Given the description of an element on the screen output the (x, y) to click on. 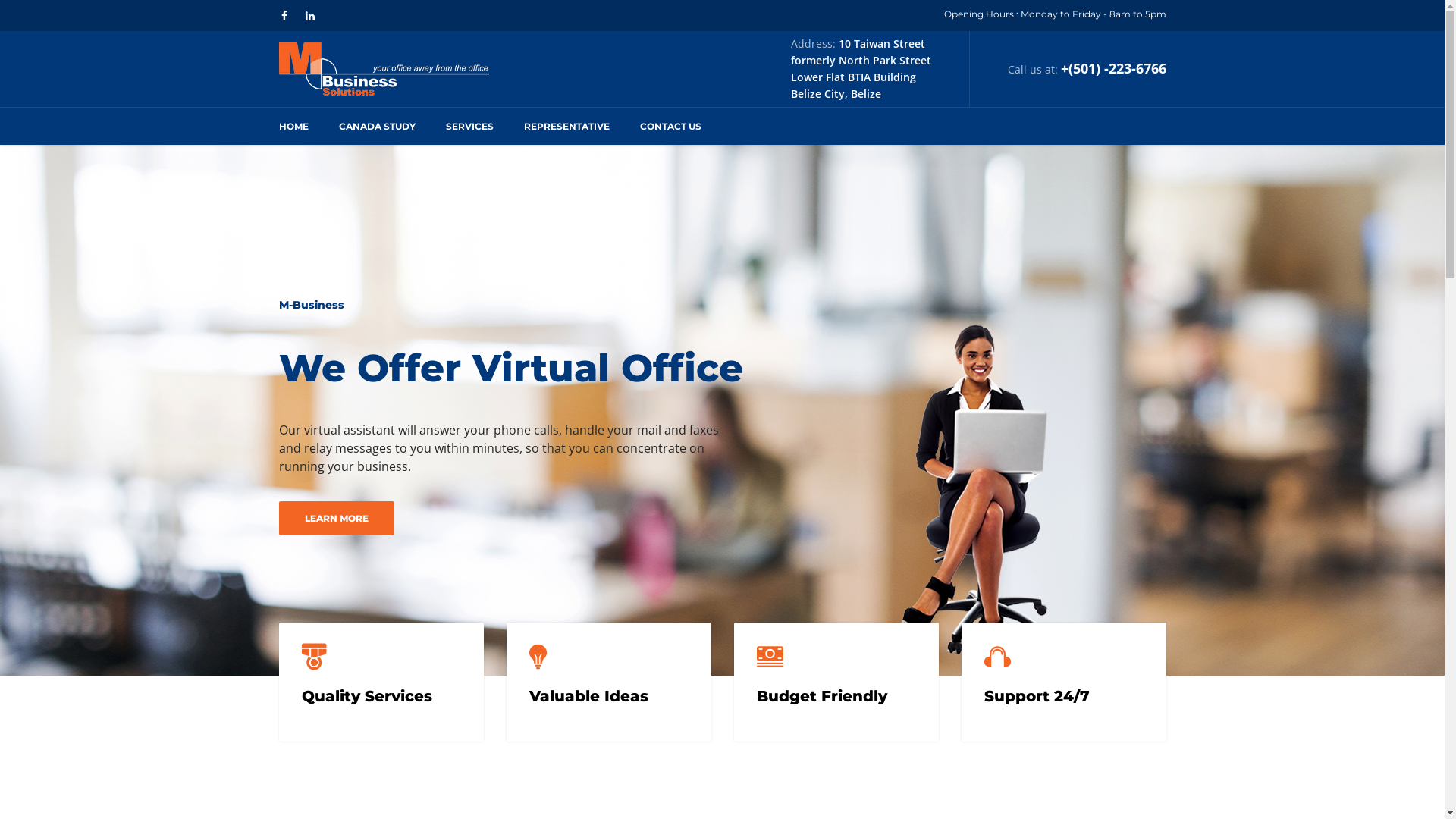
SERVICES Element type: text (469, 125)
REPRESENTATIVE Element type: text (566, 125)
CANADA STUDY Element type: text (376, 125)
LEARN MORE Element type: text (336, 518)
CONTACT US Element type: text (670, 125)
HOME Element type: text (301, 125)
